Given the description of an element on the screen output the (x, y) to click on. 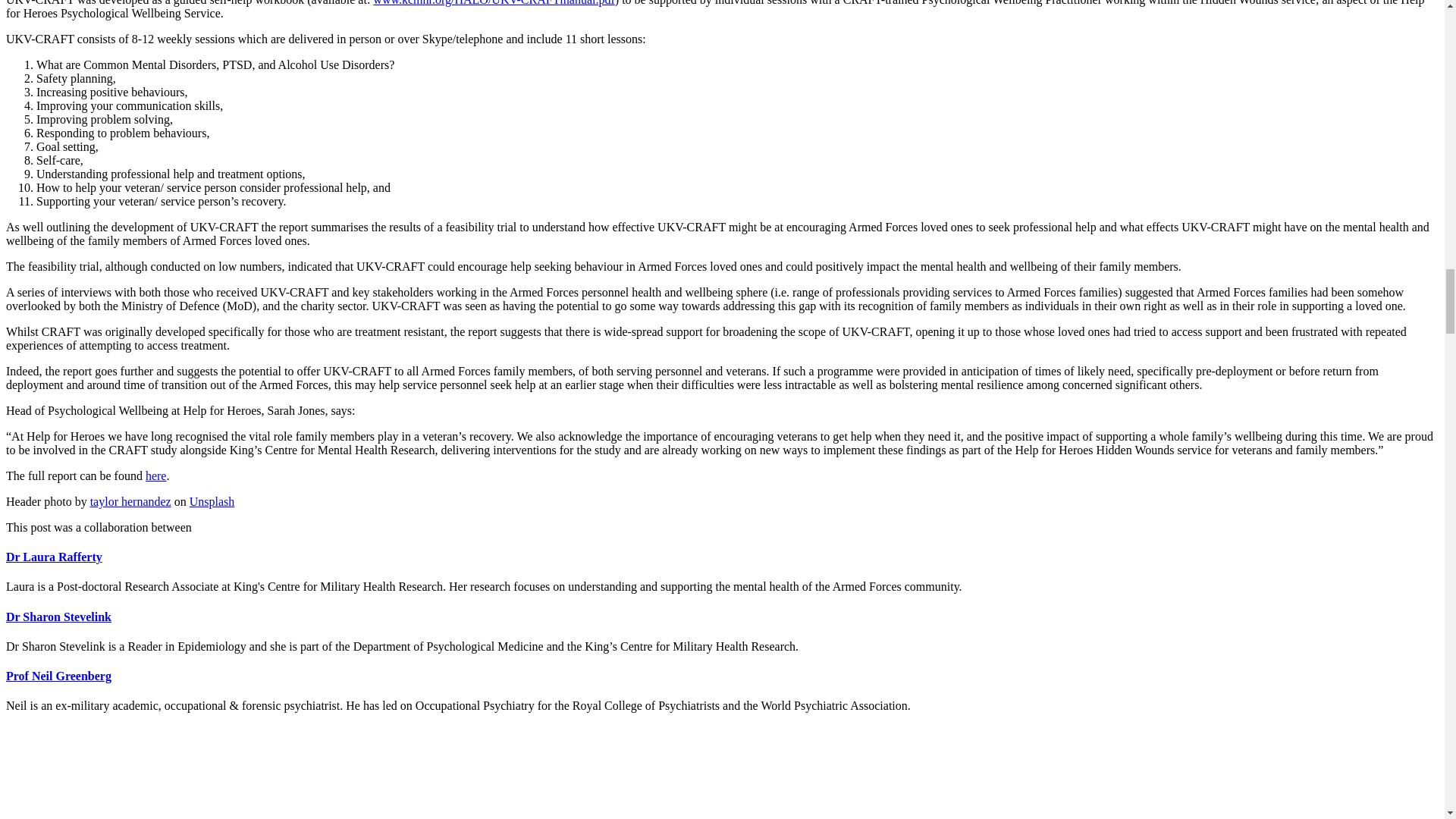
taylor hernandez (130, 501)
Dr Laura Rafferty (53, 556)
Unsplash (211, 501)
Dr Sharon Stevelink (58, 616)
Prof Neil Greenberg (58, 675)
here (156, 475)
